Given the description of an element on the screen output the (x, y) to click on. 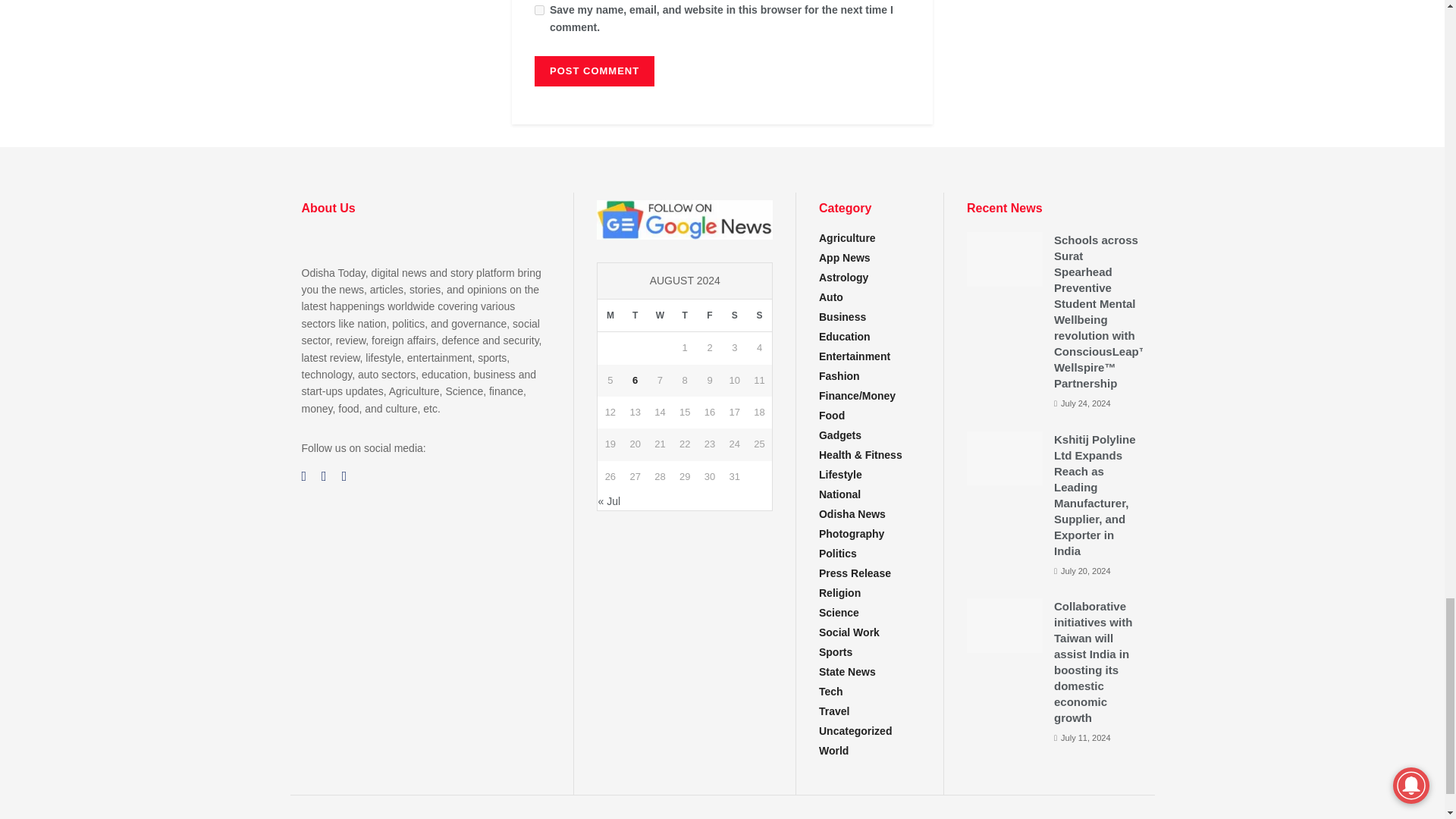
yes (539, 9)
Post Comment (593, 71)
